Given the description of an element on the screen output the (x, y) to click on. 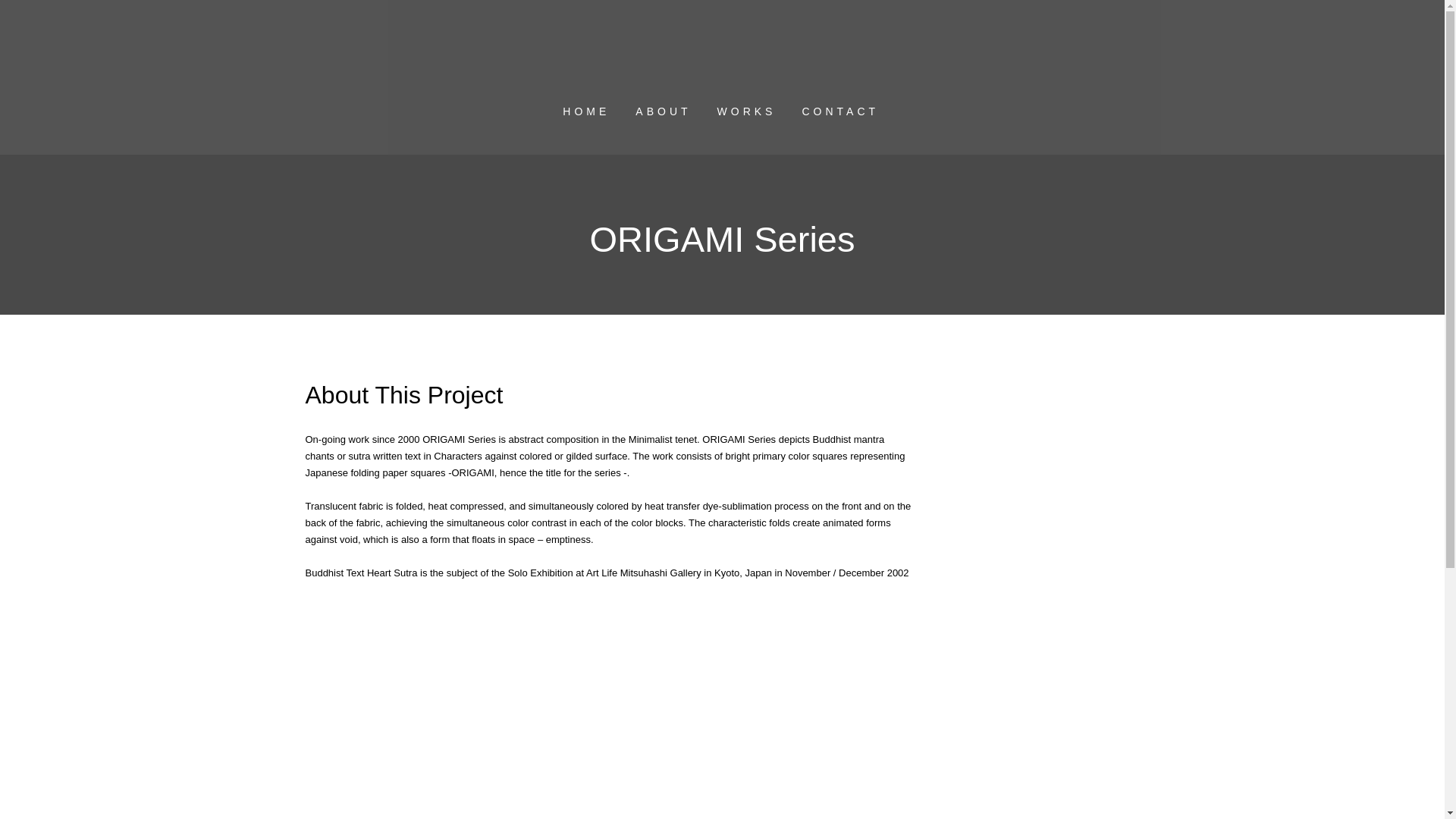
ABOUT (663, 111)
CONTACT (840, 111)
HOME (586, 111)
WORKS (746, 111)
ORIGAMI Series - Junco Sat Pollack (518, 719)
